Given the description of an element on the screen output the (x, y) to click on. 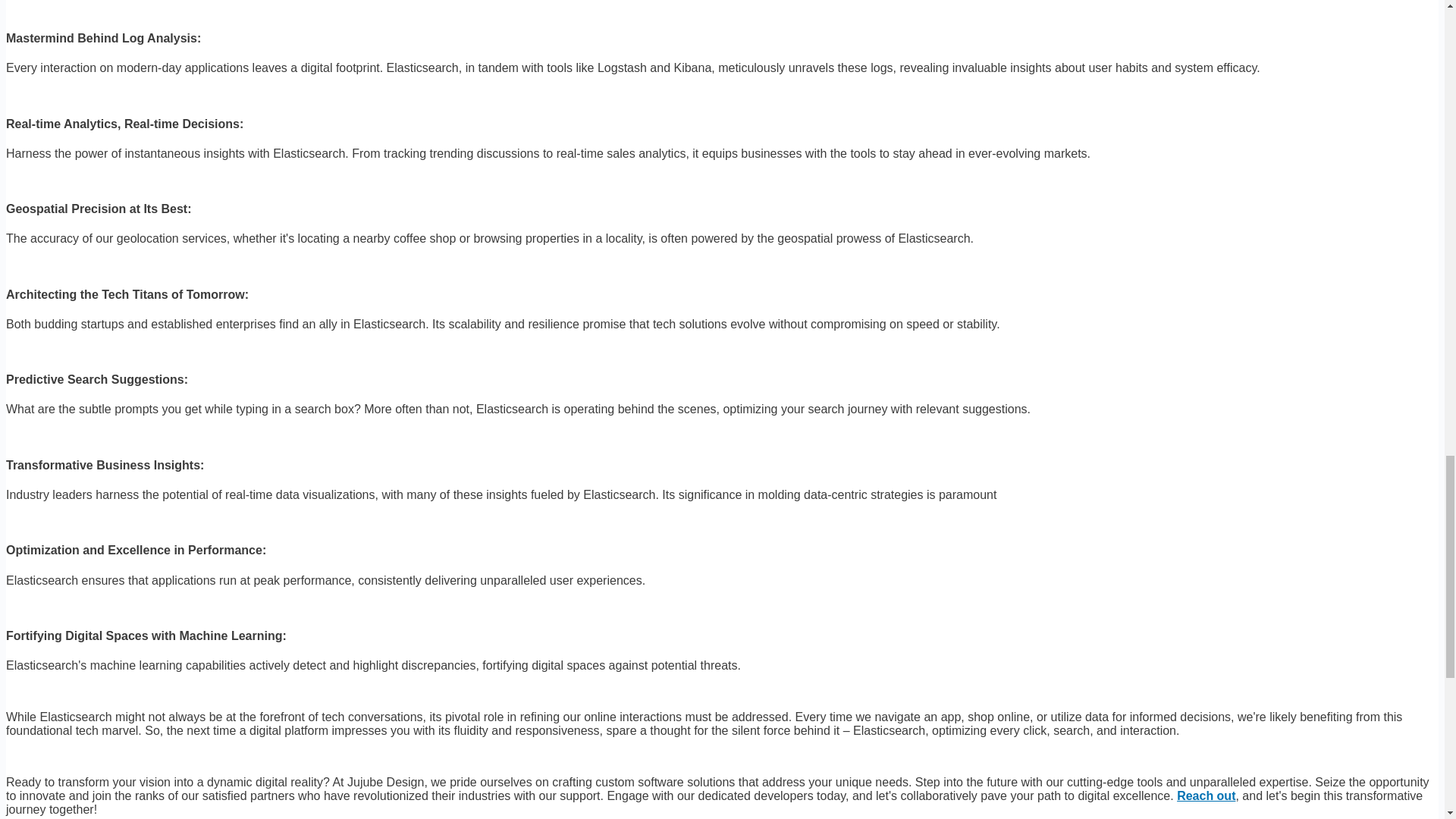
Reach out (1205, 795)
